Given the description of an element on the screen output the (x, y) to click on. 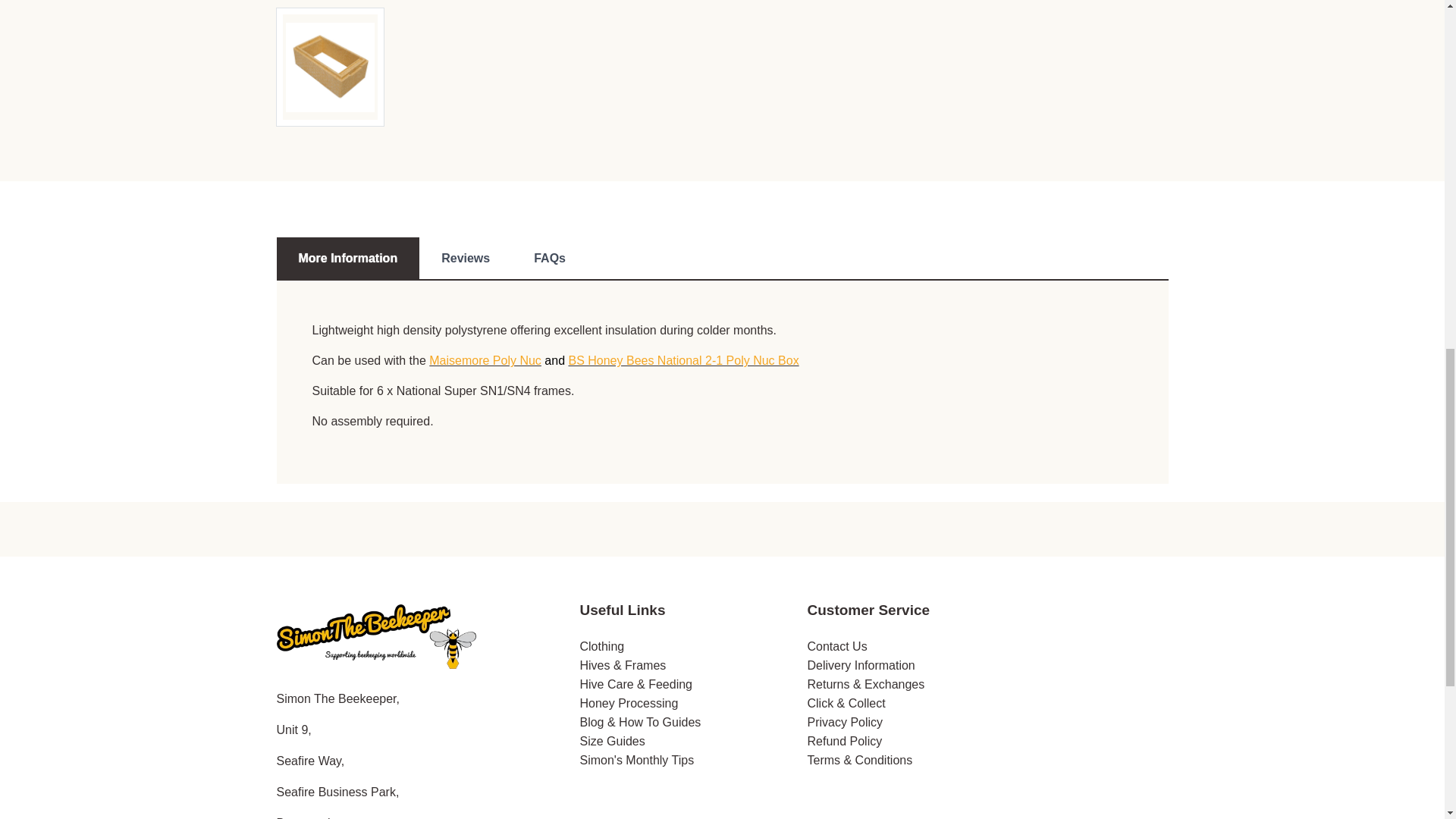
BS Honey Bees National 2-1 Poly Nuc Box (682, 359)
FAQs (550, 258)
Reviews (465, 258)
More Information (347, 258)
Maisemore Poly Nuc (485, 359)
